Given the description of an element on the screen output the (x, y) to click on. 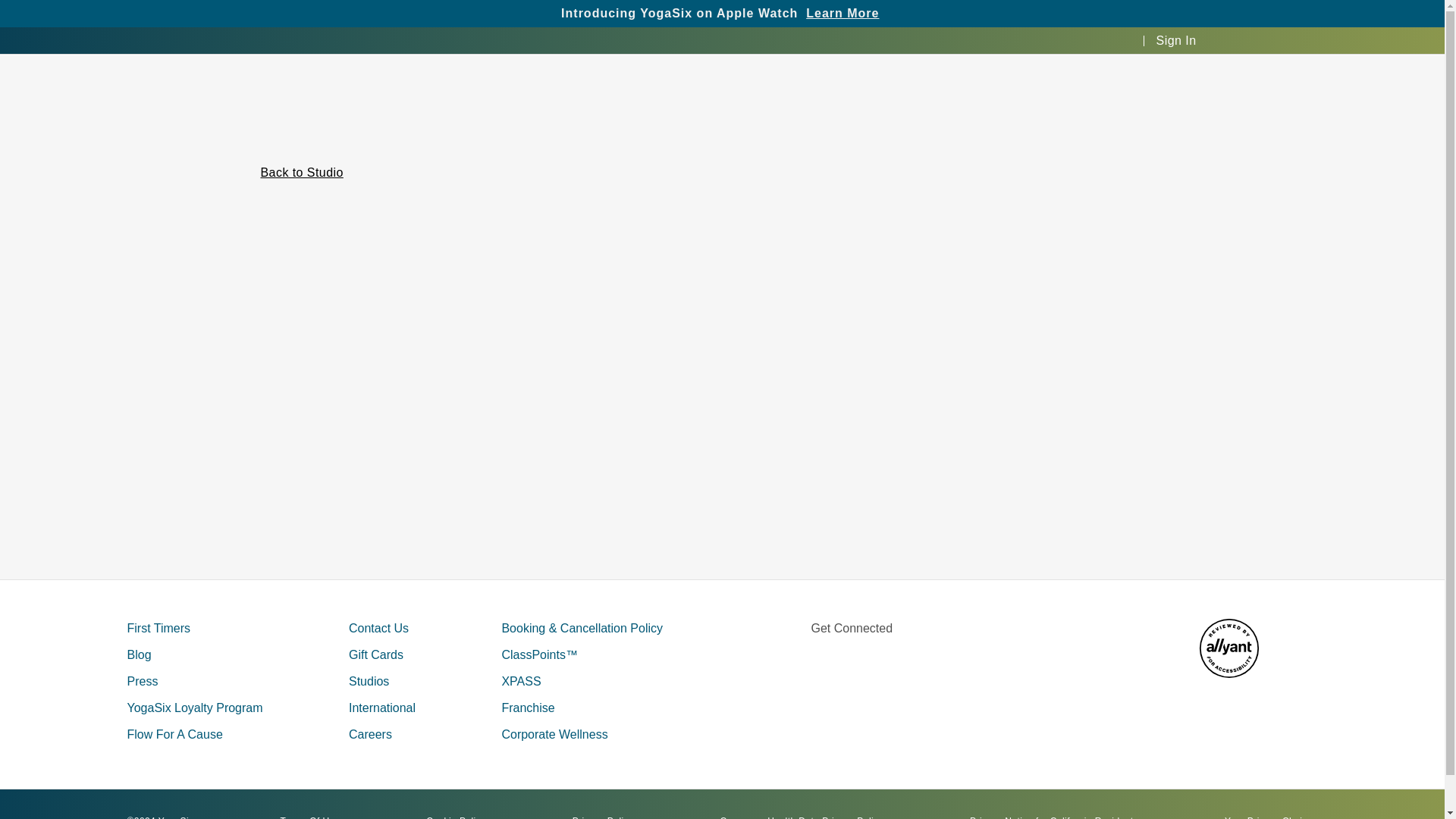
Learn More (842, 12)
Contact Us (379, 627)
Classes (441, 15)
Blog (139, 654)
XPASS (520, 680)
On Demand (836, 15)
Free Flow Celebration 3-Pack (1078, 17)
Sign In (1176, 40)
Back to Studio (301, 172)
About (671, 15)
Studios (502, 15)
Corporate Wellness (553, 734)
Franchise (914, 15)
YogaSix Loyalty Program (195, 707)
International (381, 707)
